Given the description of an element on the screen output the (x, y) to click on. 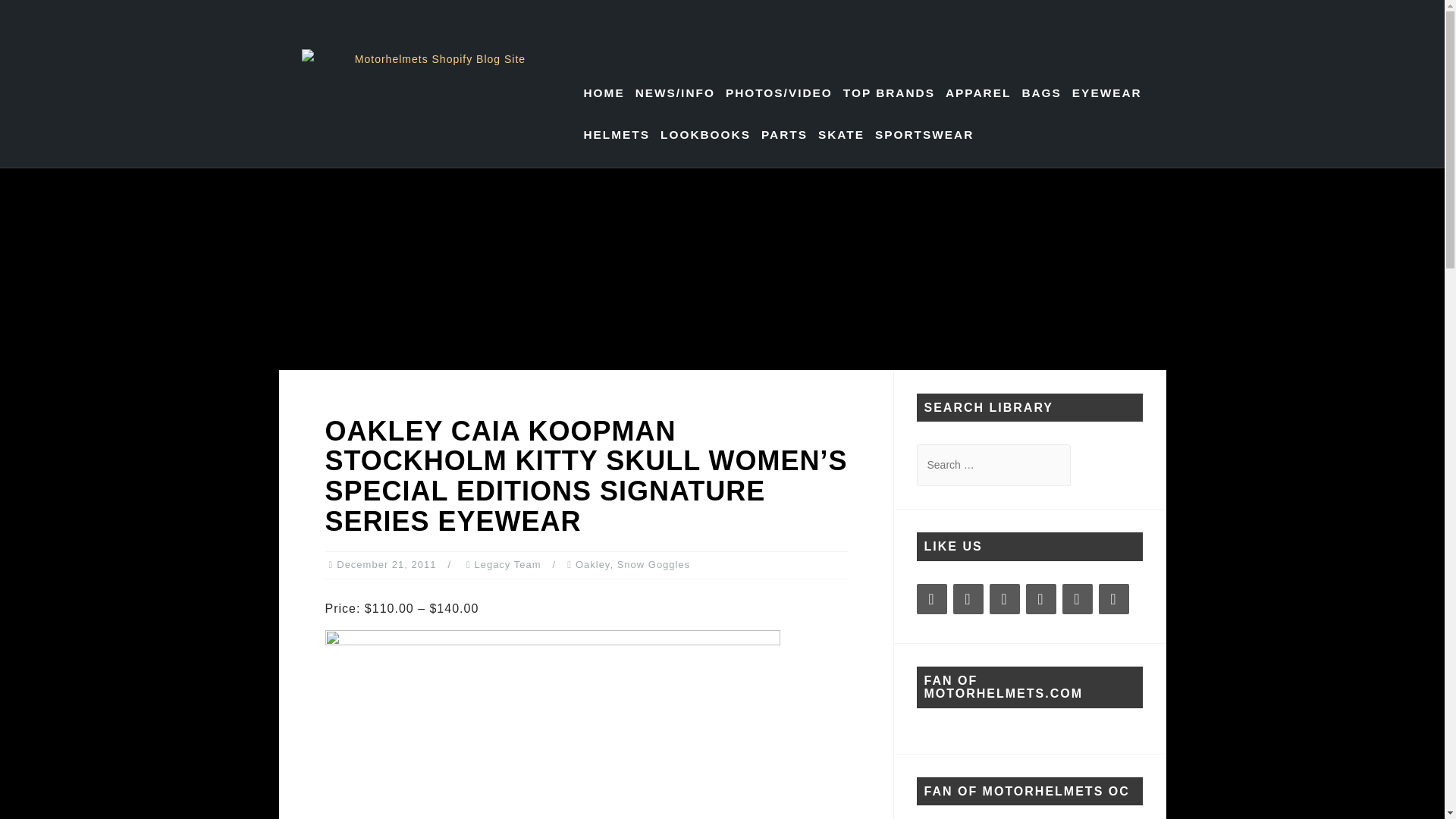
Yelp (1112, 598)
TOP BRANDS (888, 92)
HOME (603, 92)
Twitter (1076, 598)
Instagram (967, 598)
Facebook (930, 598)
YouTube (1040, 598)
